Given the description of an element on the screen output the (x, y) to click on. 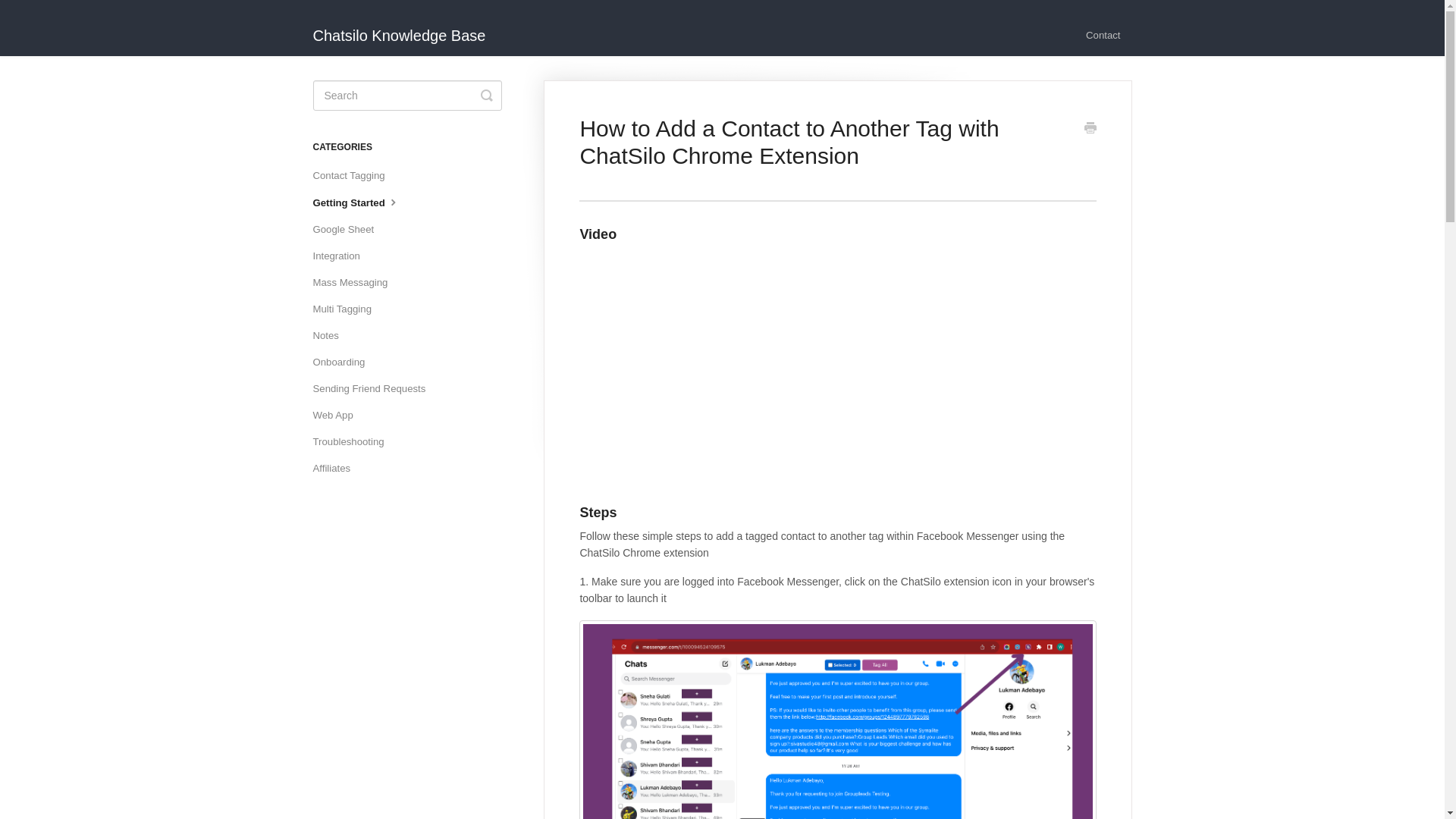
Integration (342, 256)
Contact Tagging (354, 175)
Multi Tagging (347, 309)
Onboarding (344, 362)
Mass Messaging (355, 282)
Troubleshooting (353, 441)
Web App (338, 415)
Chatsilo Knowledge Base (406, 28)
Google Sheet (349, 229)
Contact (1102, 35)
YouTube video player (791, 372)
Affiliates (337, 468)
Getting Started (362, 202)
search-query (406, 95)
Sending Friend Requests (374, 388)
